Given the description of an element on the screen output the (x, y) to click on. 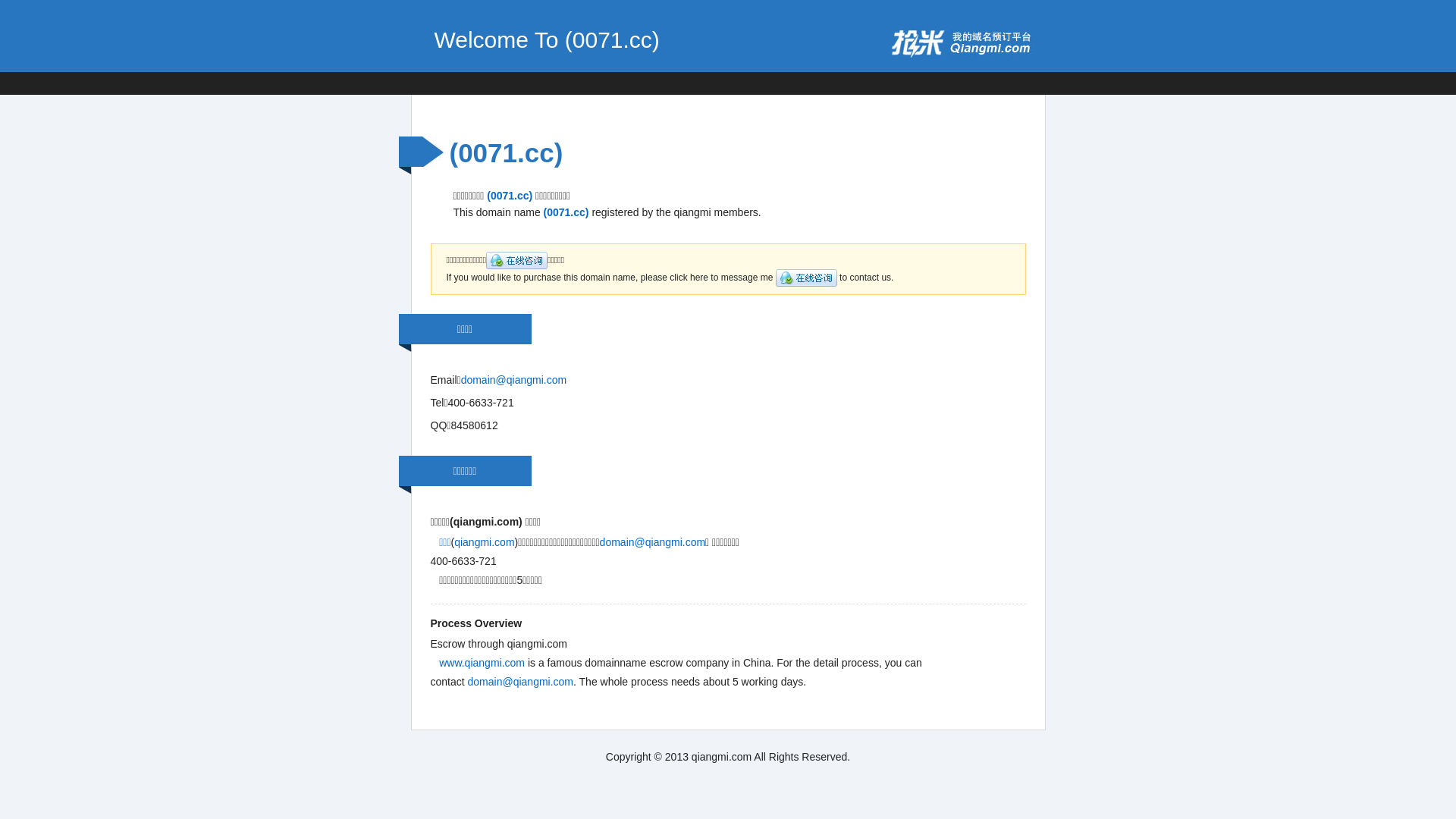
domain@qiangmi.com Element type: text (520, 681)
domain@qiangmi.com Element type: text (652, 542)
www.qiangmi.com Element type: text (481, 662)
qiangmi.com Element type: text (484, 542)
click here Element type: hover (806, 277)
domain@qiangmi.com Element type: text (514, 379)
